Given the description of an element on the screen output the (x, y) to click on. 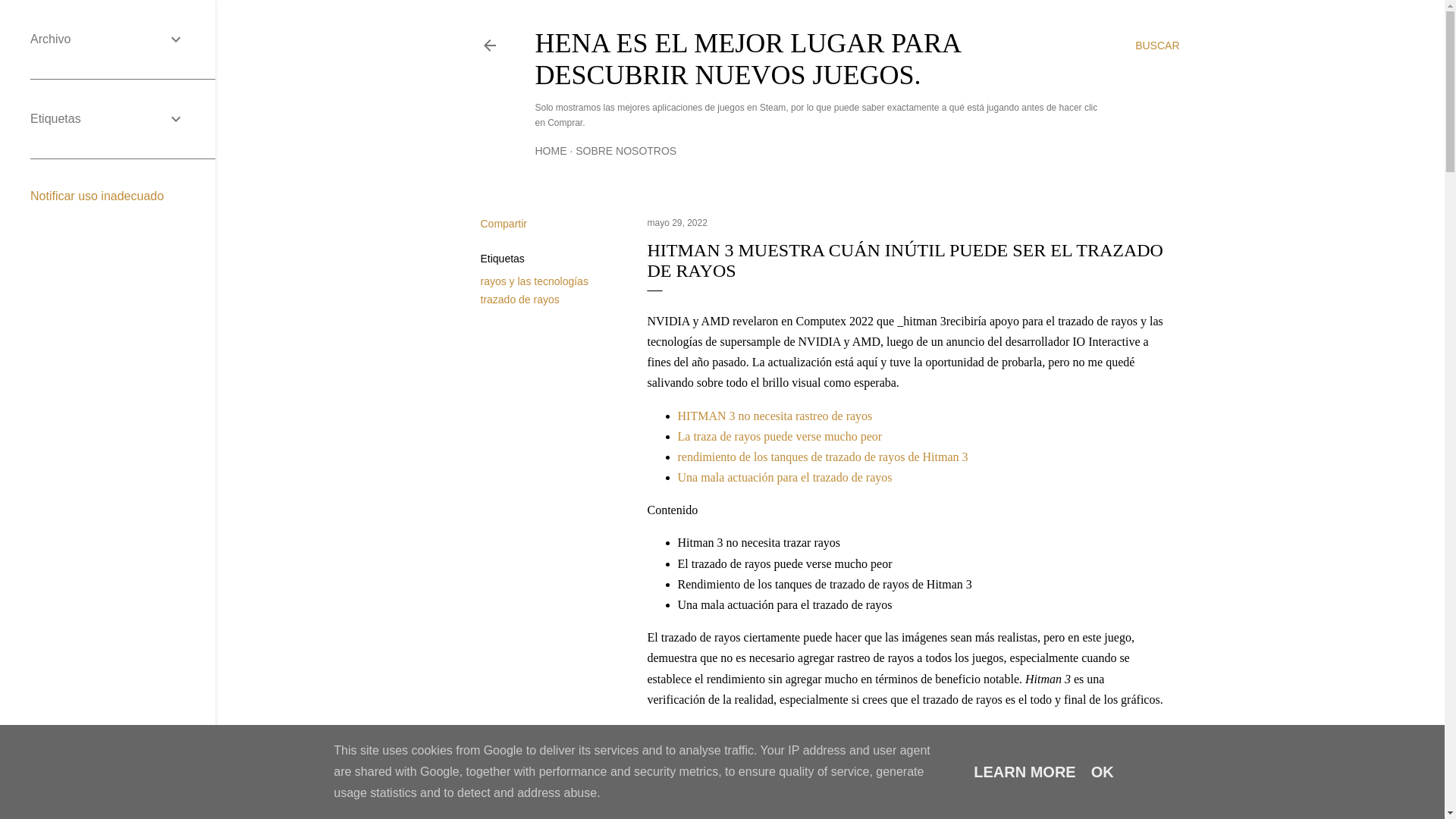
La traza de rayos puede verse mucho peor Element type: text (779, 435)
Notificar uso inadecuado Element type: text (96, 195)
rendimiento de los tanques de trazado de rayos de Hitman 3 Element type: text (822, 456)
HITMAN 3 no necesita rastreo de rayos Element type: text (774, 415)
Compartir Element type: text (503, 223)
BUSCAR Element type: text (1157, 45)
HOME Element type: text (551, 150)
mayo 29, 2022 Element type: text (677, 222)
LEARN MORE Element type: text (1024, 771)
OK Element type: text (1102, 771)
HENA ES EL MEJOR LUGAR PARA DESCUBRIR NUEVOS JUEGOS. Element type: text (747, 59)
trazado de rayos Element type: text (519, 299)
SOBRE NOSOTROS Element type: text (625, 150)
